Given the description of an element on the screen output the (x, y) to click on. 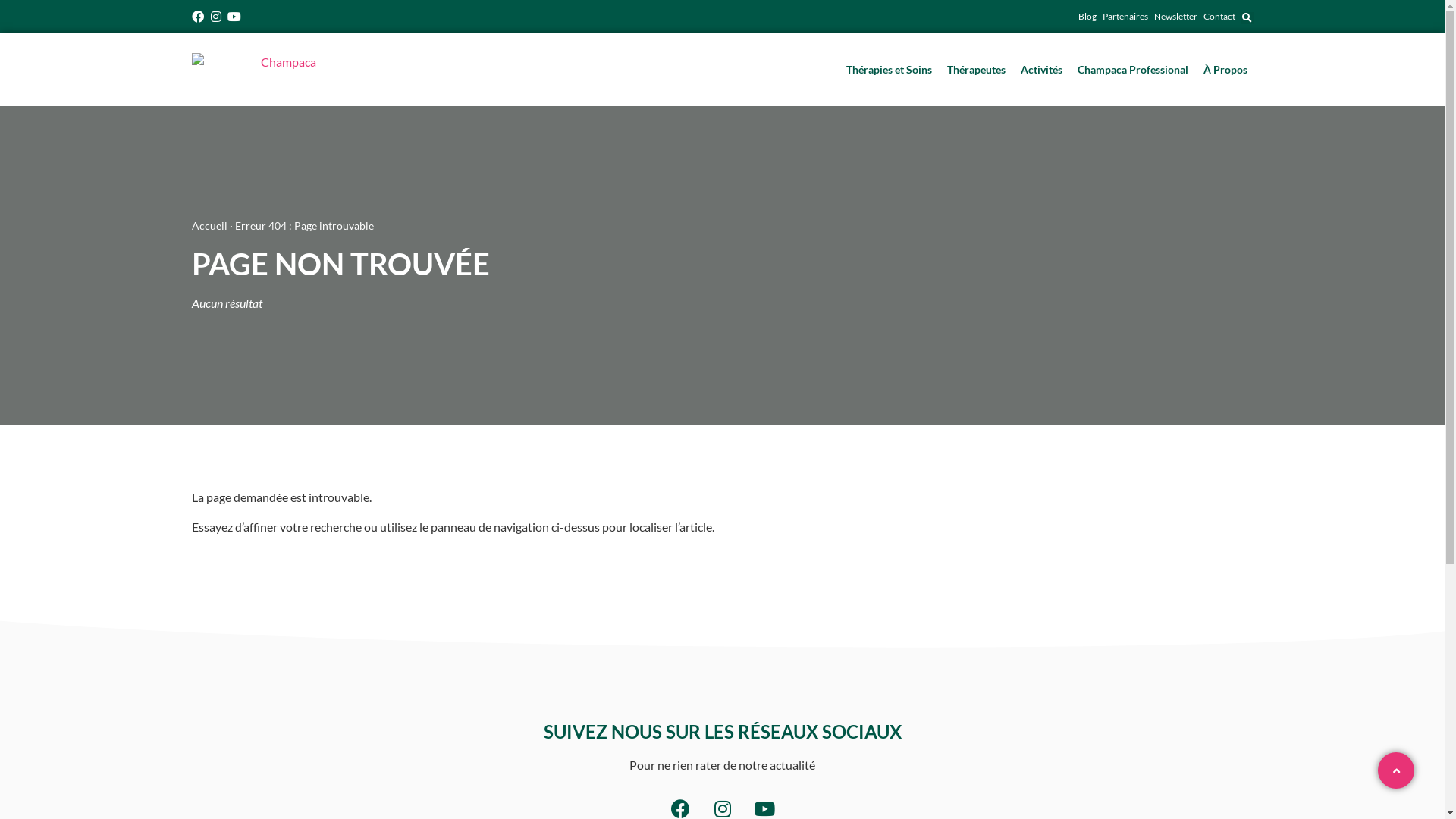
Contact Element type: text (1218, 16)
Partenaires Element type: text (1125, 16)
Accueil Element type: text (208, 225)
Newsletter Element type: text (1175, 16)
Blog Element type: text (1087, 16)
Champaca Professional Element type: text (1131, 69)
